Given the description of an element on the screen output the (x, y) to click on. 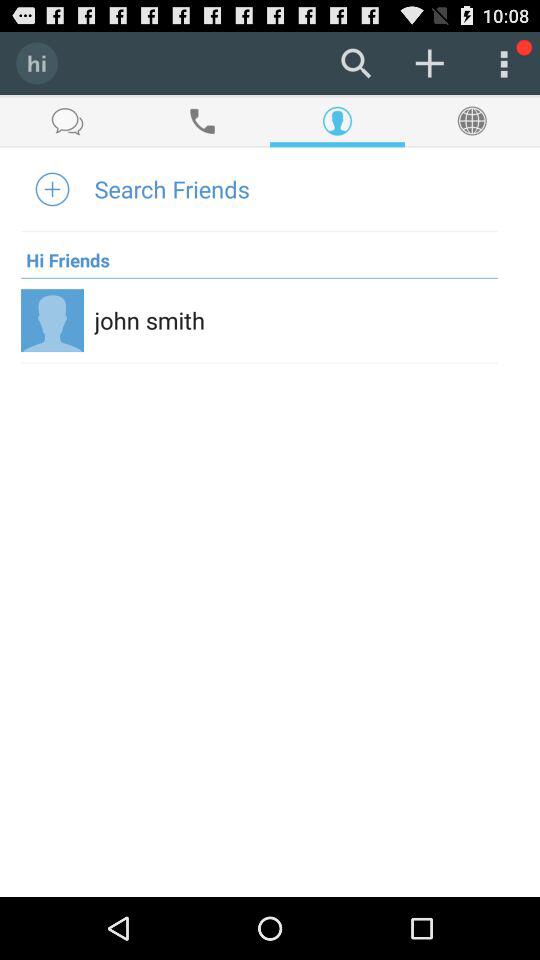
launch the search friends icon (171, 188)
